Given the description of an element on the screen output the (x, y) to click on. 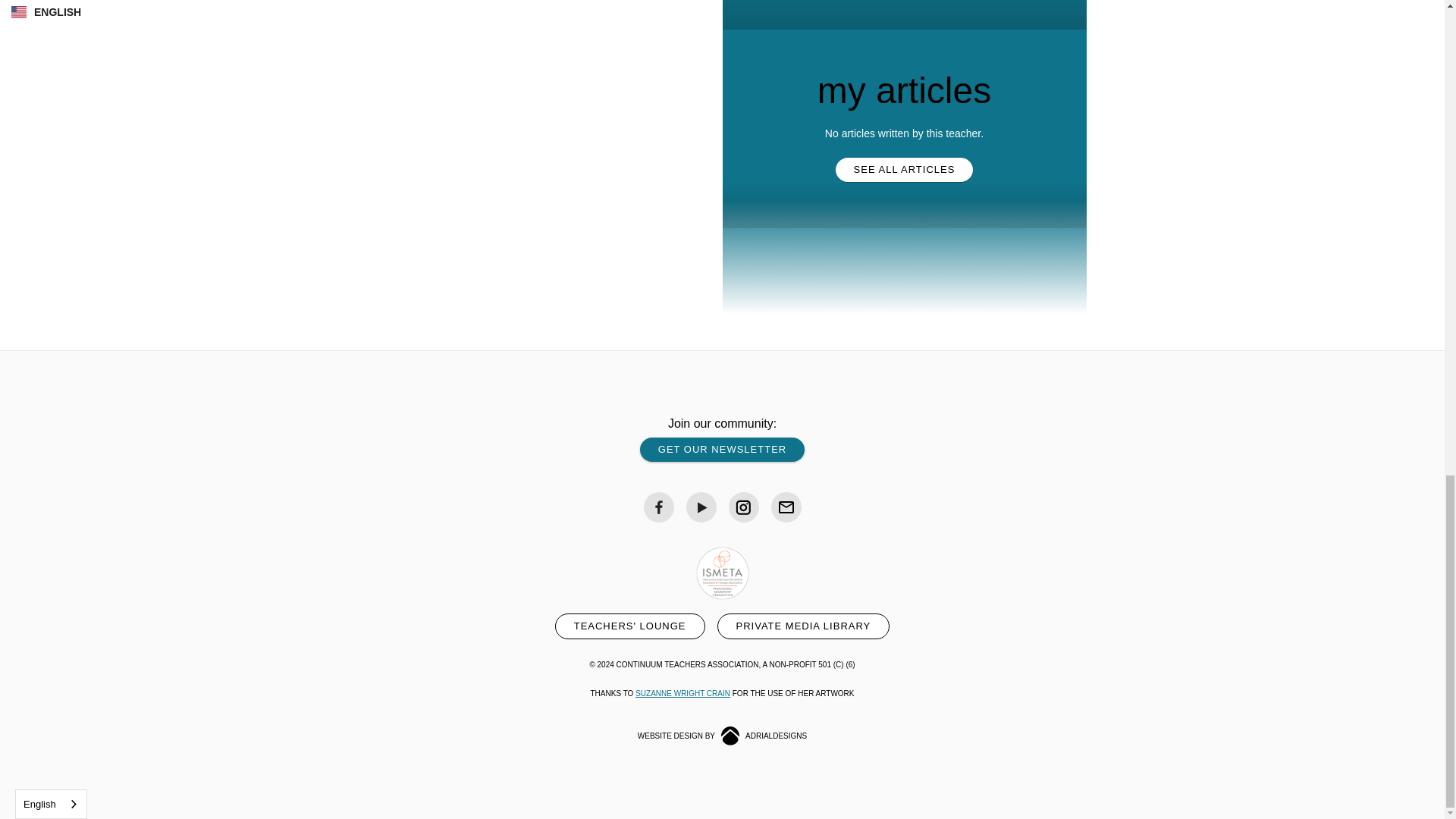
SEE ALL ARTICLES (904, 169)
GET OUR NEWSLETTER (722, 449)
